Given the description of an element on the screen output the (x, y) to click on. 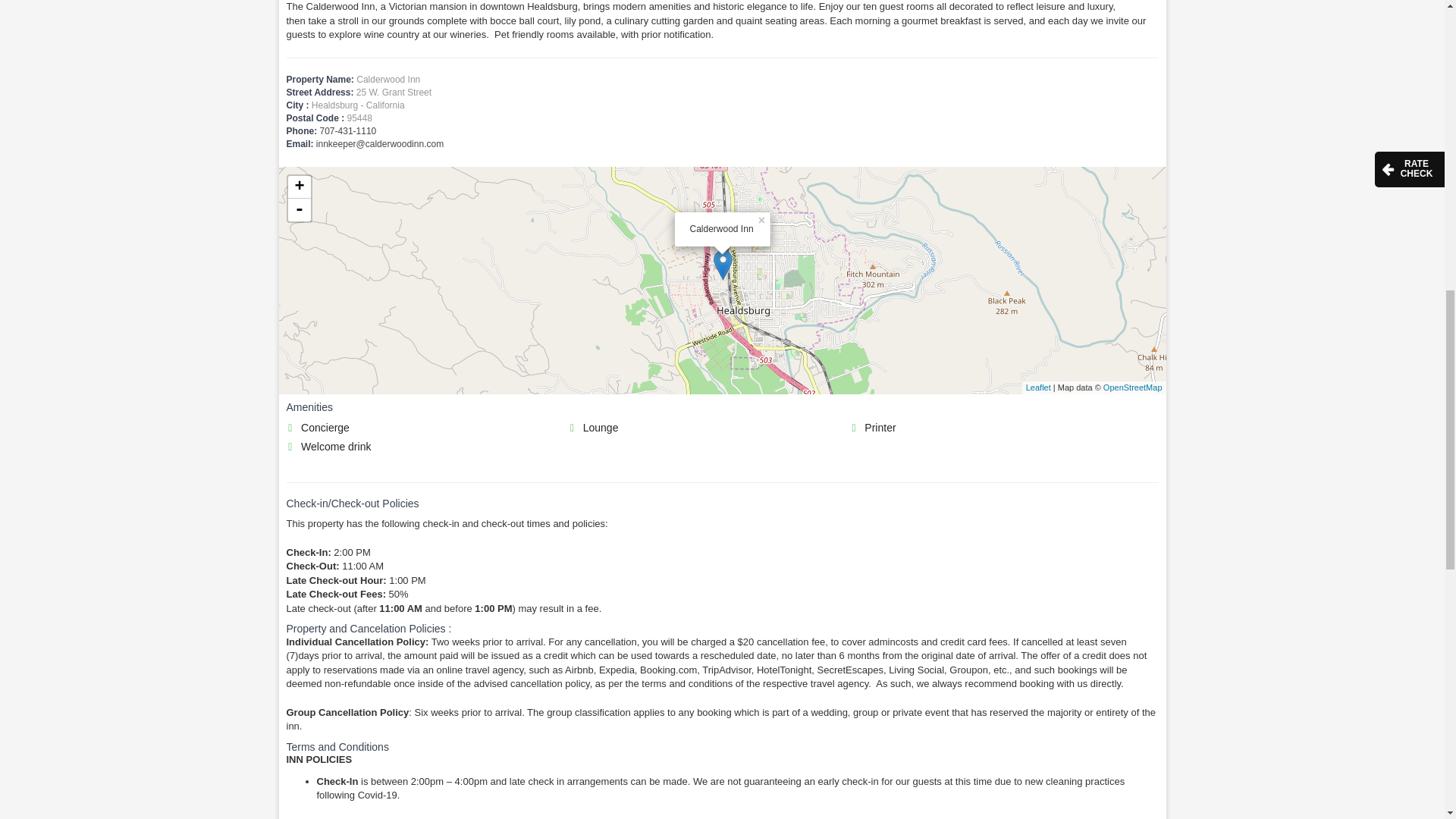
Concierge (426, 427)
Lounge (707, 427)
A JS library for interactive maps (1038, 387)
Zoom out (299, 210)
Zoom in (299, 187)
